Given the description of an element on the screen output the (x, y) to click on. 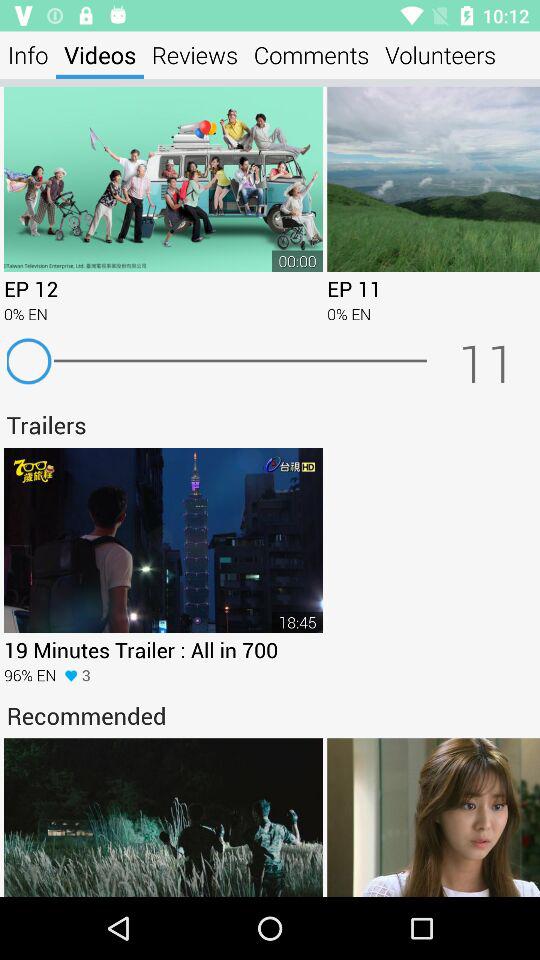
select item next to volunteers icon (311, 54)
